Given the description of an element on the screen output the (x, y) to click on. 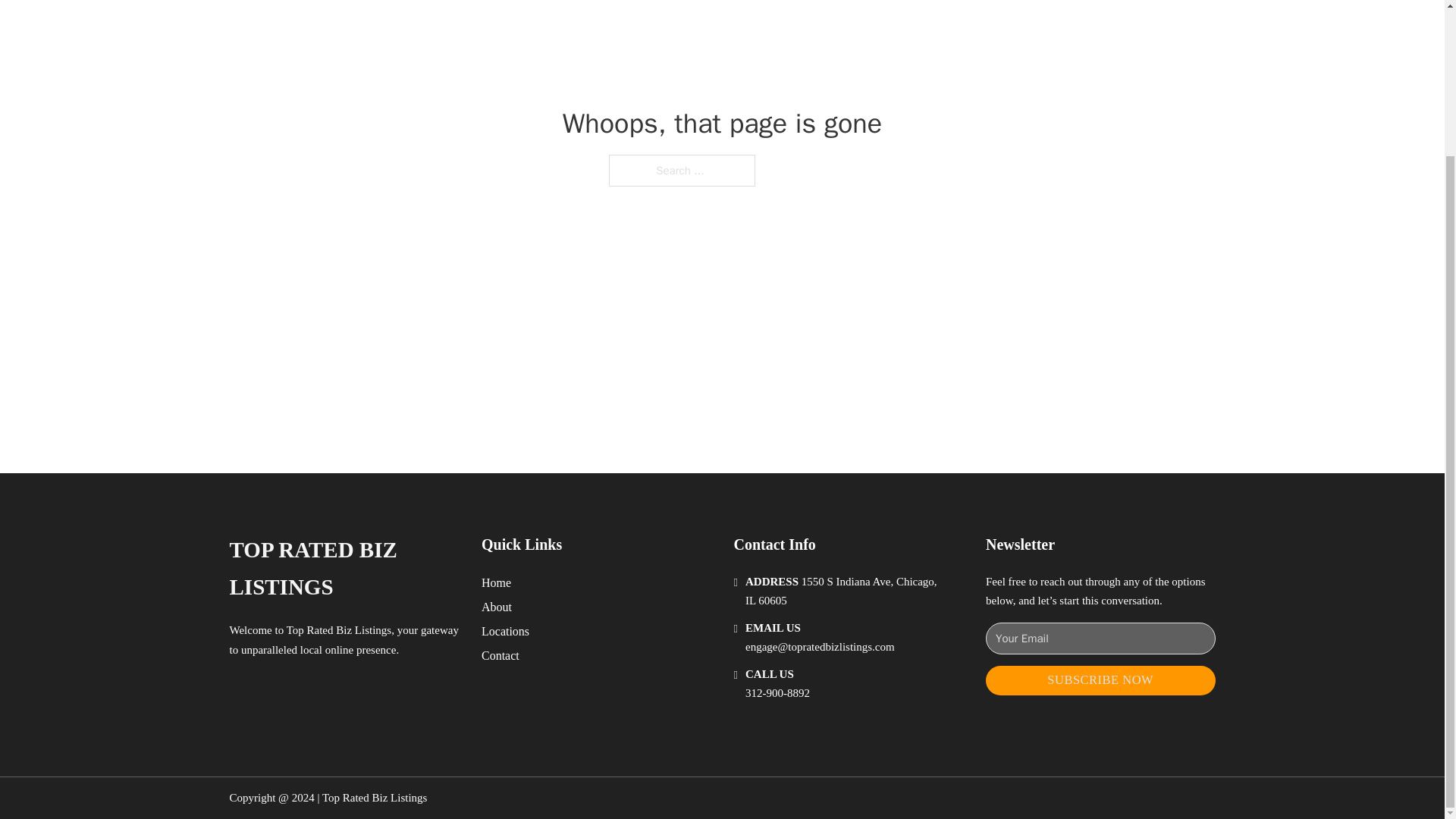
Home (496, 582)
About (496, 607)
Locations (505, 630)
TOP RATED BIZ LISTINGS (343, 568)
312-900-8892 (777, 693)
SUBSCRIBE NOW (1100, 680)
Contact (500, 655)
